Given the description of an element on the screen output the (x, y) to click on. 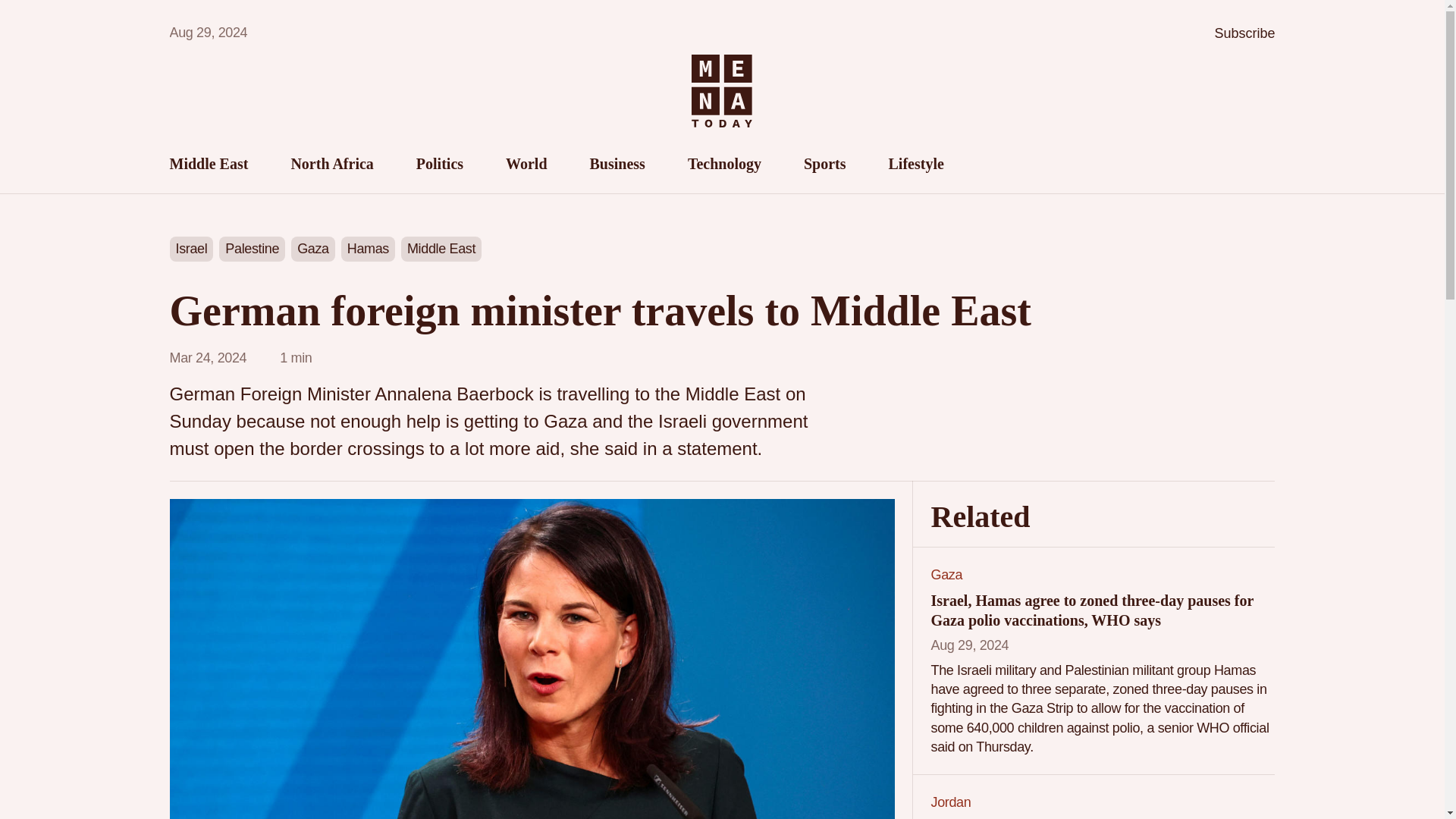
Subscribe (1244, 33)
Technology (724, 163)
North Africa (330, 163)
Politics (439, 163)
Business (617, 163)
Israel (192, 248)
World (526, 163)
Lifestyle (915, 163)
Search (1257, 163)
